Given the description of an element on the screen output the (x, y) to click on. 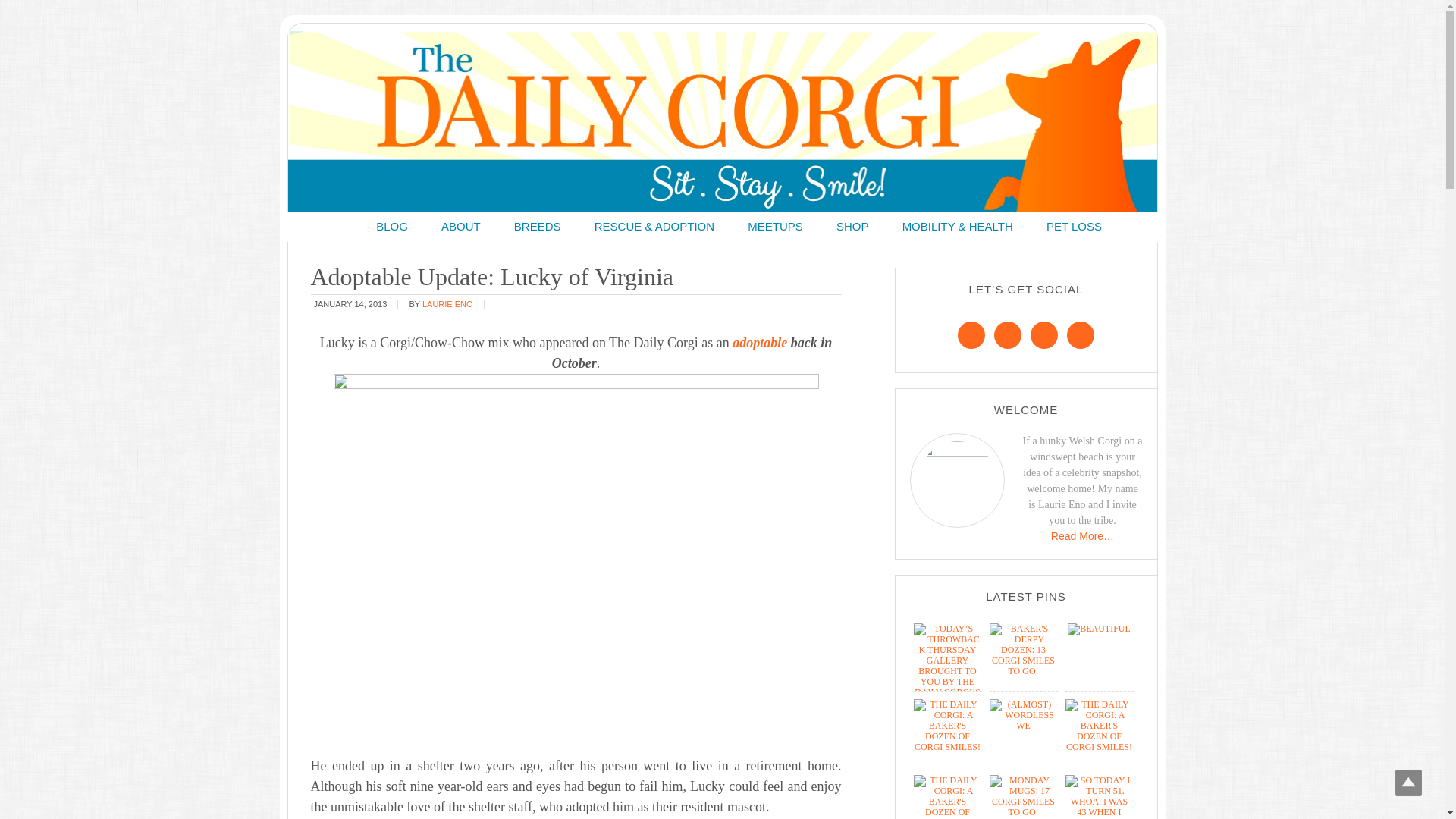
MEETUPS (775, 226)
PET LOSS (1073, 226)
About (461, 226)
Shop (852, 226)
SHOP (852, 226)
Breeds (537, 226)
BLOG (392, 226)
Laurie Eno (447, 302)
adoptable (759, 342)
Home (342, 226)
ABOUT (461, 226)
LAURIE ENO (447, 302)
MEETUPS (775, 226)
